Given the description of an element on the screen output the (x, y) to click on. 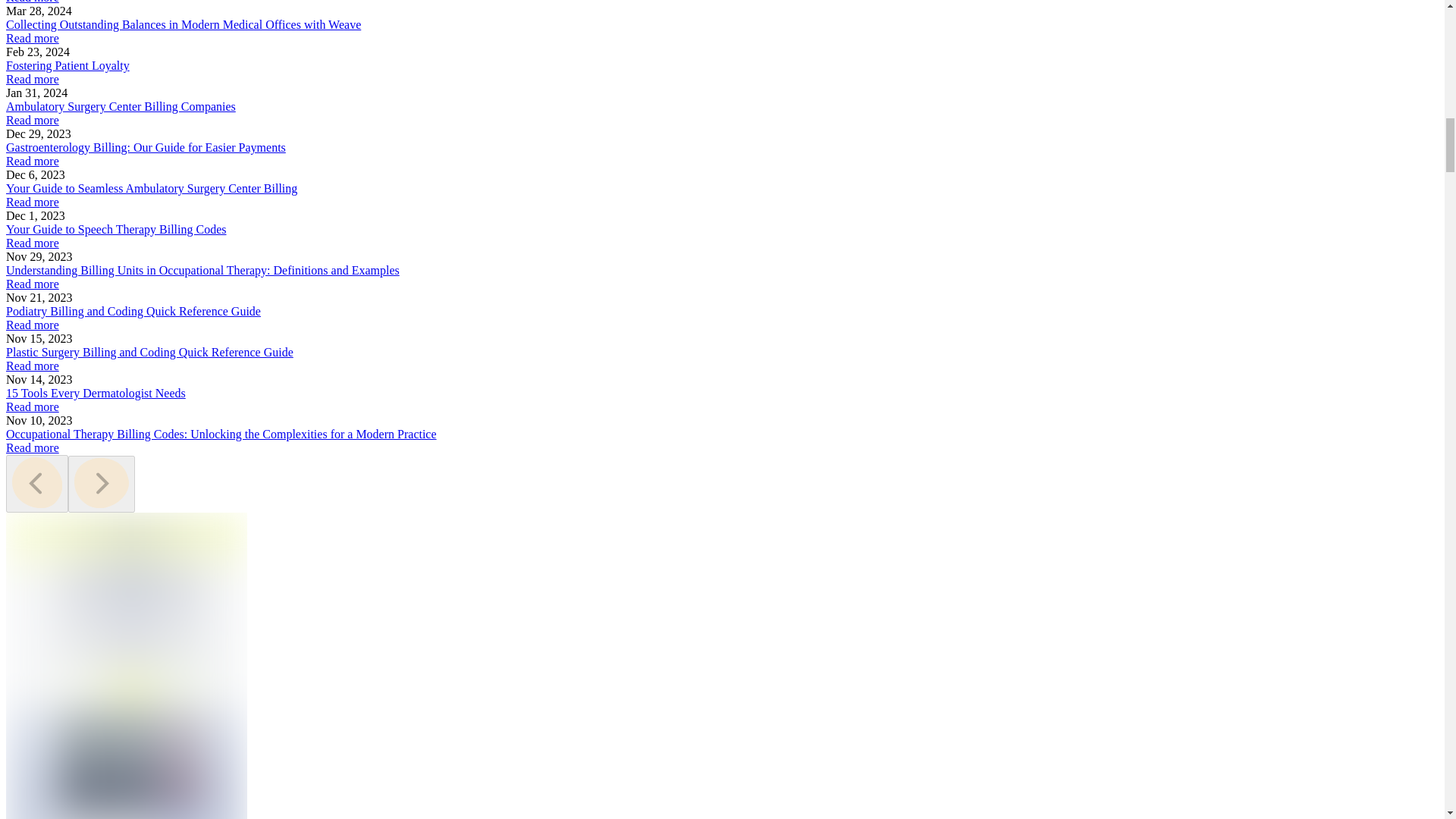
Read more (32, 2)
Read more (32, 324)
Your Guide to Speech Therapy Billing Codes (116, 228)
Read more (32, 119)
Read more (32, 283)
Gastroenterology Billing: Our Guide for Easier Payments (145, 146)
Read more (32, 38)
Podiatry Billing and Coding Quick Reference Guide (132, 310)
Read more (32, 160)
Ambulatory Surgery Center Billing Companies (120, 106)
Fostering Patient Loyalty (67, 65)
Read more (32, 78)
Read more (32, 242)
